Given the description of an element on the screen output the (x, y) to click on. 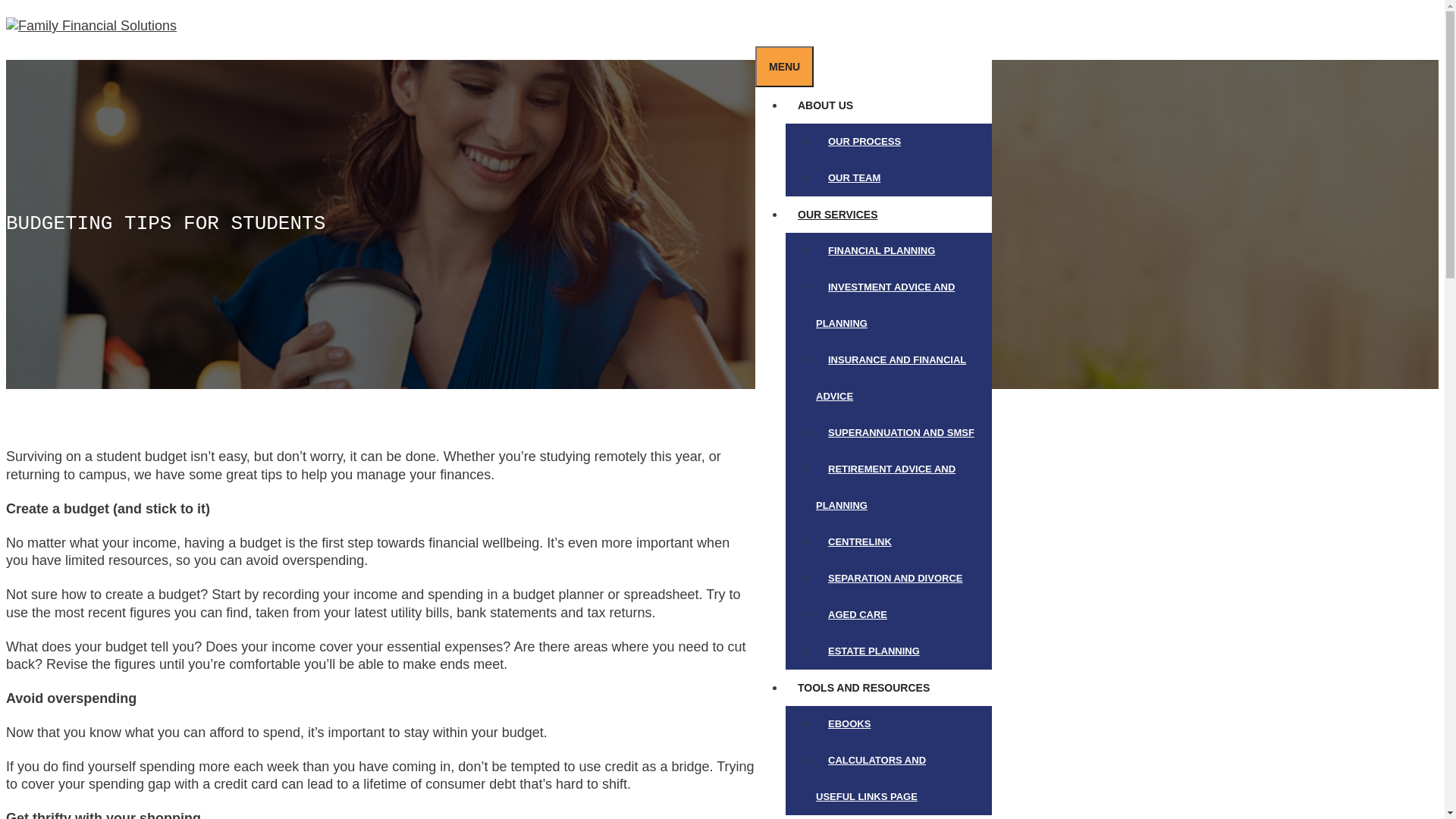
INSURANCE AND FINANCIAL ADVICE Element type: text (890, 377)
FINANCIAL PLANNING Element type: text (881, 250)
Skip to content Element type: text (5, 5)
RETIREMENT ADVICE AND PLANNING Element type: text (885, 486)
AGED CARE Element type: text (857, 614)
TOOLS AND RESOURCES Element type: text (869, 687)
OUR TEAM Element type: text (853, 177)
SEPARATION AND DIVORCE Element type: text (894, 577)
ESTATE PLANNING Element type: text (873, 650)
SUPERANNUATION AND SMSF Element type: text (900, 432)
MENU Element type: text (784, 66)
INVESTMENT ADVICE AND PLANNING Element type: text (884, 304)
EBOOKS Element type: text (848, 723)
CENTRELINK Element type: text (859, 541)
OUR PROCESS Element type: text (864, 141)
OUR SERVICES Element type: text (843, 214)
ABOUT US Element type: text (831, 105)
CALCULATORS AND
USEFUL LINKS PAGE Element type: text (872, 777)
